Given the description of an element on the screen output the (x, y) to click on. 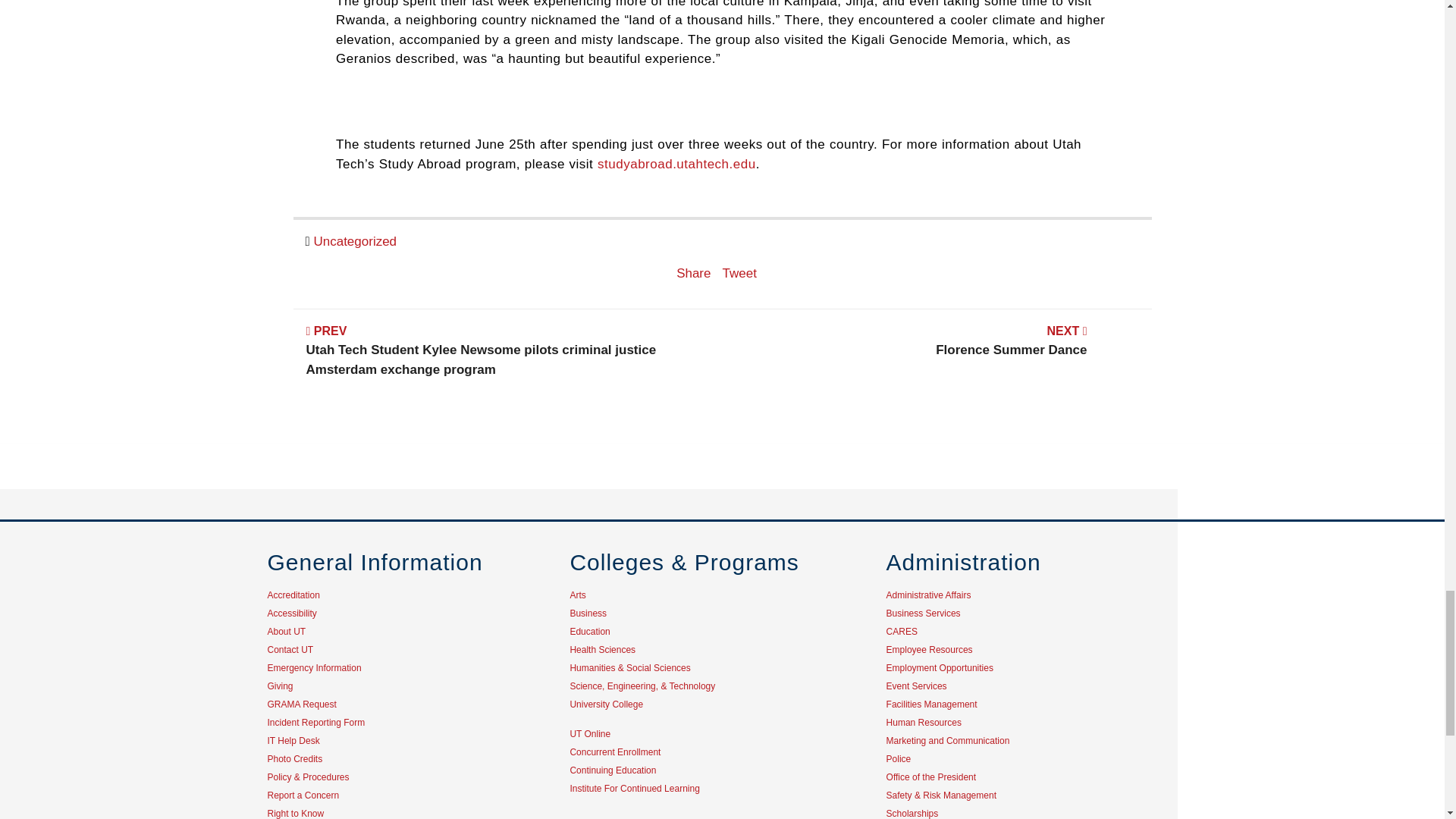
studyabroad.utahtech.edu (675, 164)
Photo Credits (293, 758)
IT Help Desk (292, 740)
About UT (285, 631)
GRAMA Request (301, 704)
Emergency Information (313, 667)
Giving (279, 685)
Incident Reporting Form (936, 350)
Accreditation (315, 722)
